Given the description of an element on the screen output the (x, y) to click on. 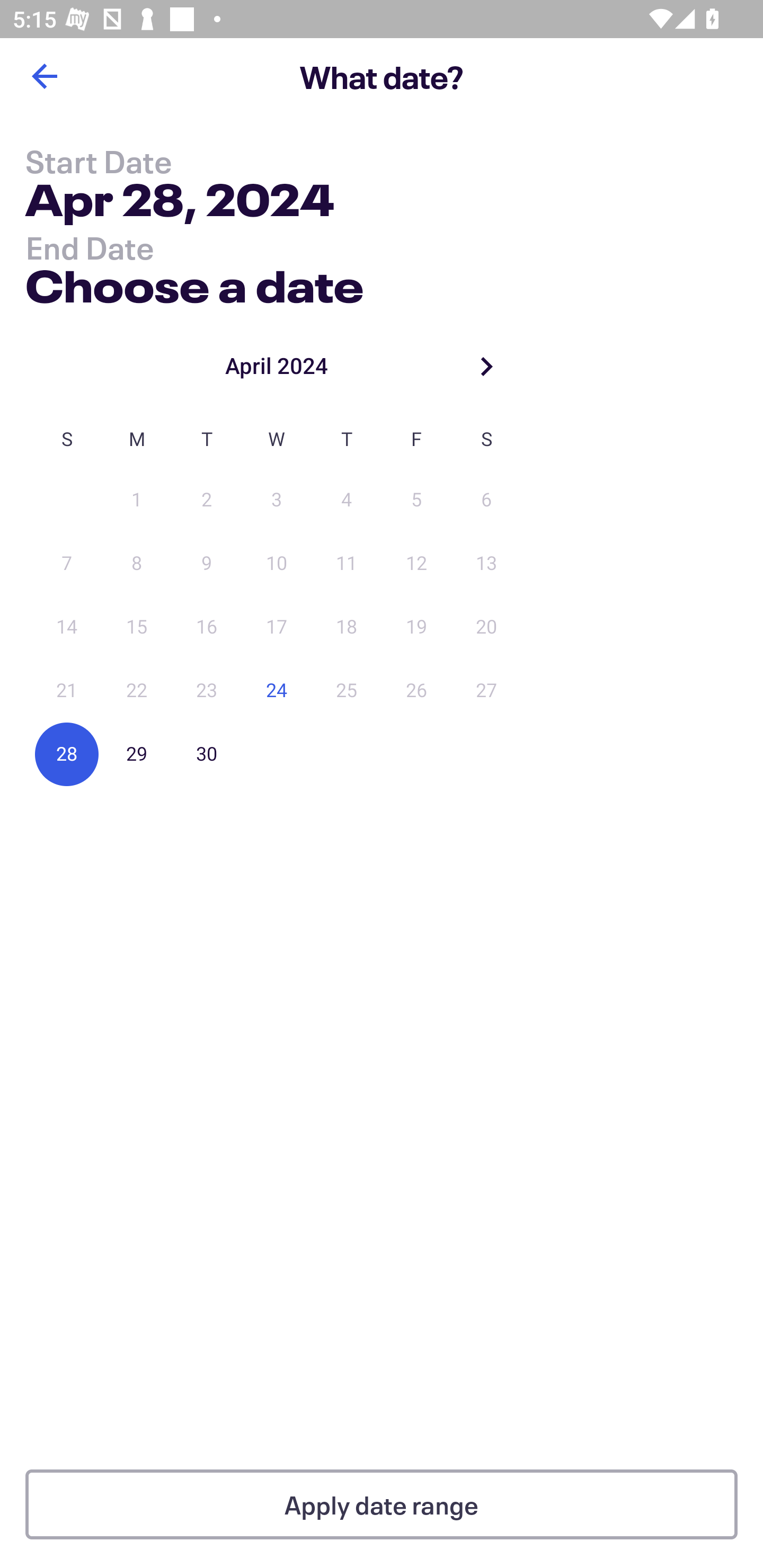
Back button (44, 75)
Apr 28, 2024 (179, 203)
Choose a date (194, 282)
Next month (486, 365)
1 01 April 2024 (136, 499)
2 02 April 2024 (206, 499)
3 03 April 2024 (276, 499)
4 04 April 2024 (346, 499)
5 05 April 2024 (416, 499)
6 06 April 2024 (486, 499)
7 07 April 2024 (66, 563)
8 08 April 2024 (136, 563)
9 09 April 2024 (206, 563)
10 10 April 2024 (276, 563)
11 11 April 2024 (346, 563)
12 12 April 2024 (416, 563)
13 13 April 2024 (486, 563)
14 14 April 2024 (66, 626)
15 15 April 2024 (136, 626)
16 16 April 2024 (206, 626)
17 17 April 2024 (276, 626)
18 18 April 2024 (346, 626)
19 19 April 2024 (416, 626)
20 20 April 2024 (486, 626)
21 21 April 2024 (66, 690)
22 22 April 2024 (136, 690)
23 23 April 2024 (206, 690)
24 24 April 2024 (276, 690)
25 25 April 2024 (346, 690)
26 26 April 2024 (416, 690)
27 27 April 2024 (486, 690)
28 28 April 2024 (66, 753)
29 29 April 2024 (136, 753)
30 30 April 2024 (206, 753)
Apply date range (381, 1504)
